Given the description of an element on the screen output the (x, y) to click on. 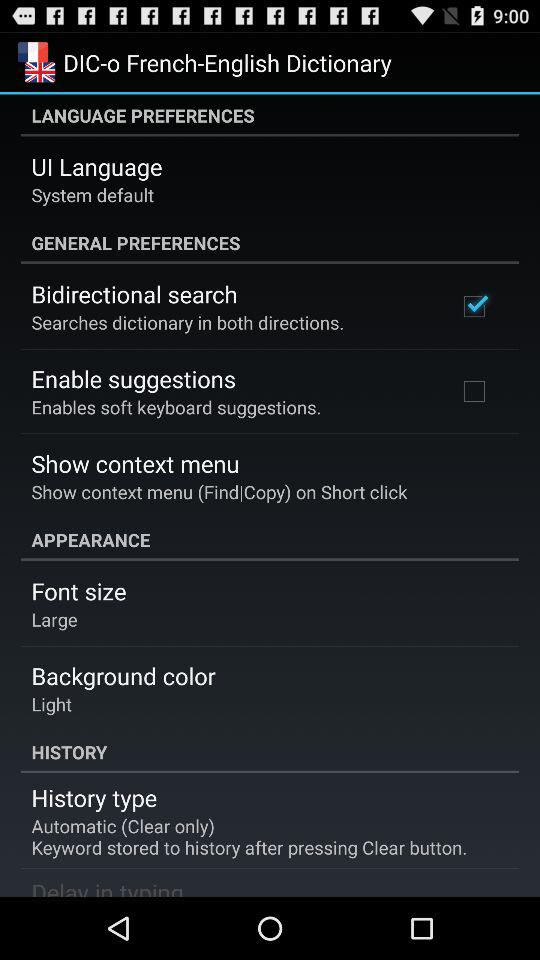
launch the font size app (78, 591)
